Given the description of an element on the screen output the (x, y) to click on. 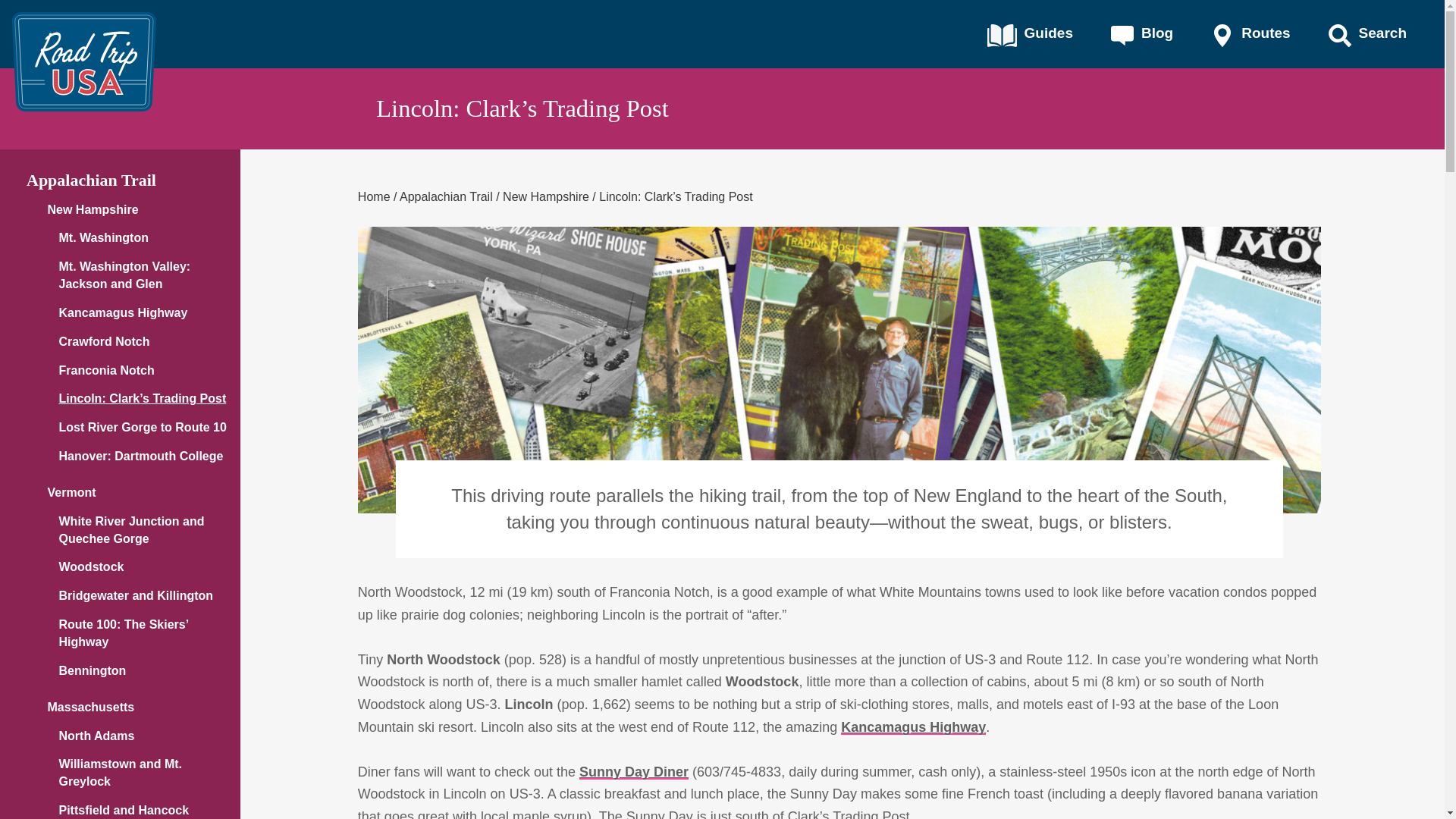
New Hampshire (545, 196)
Routes (1250, 35)
Blog (1142, 35)
Search (1367, 35)
Sunny Day Diner (633, 771)
Search (1367, 35)
Routes (1250, 35)
Guides (1029, 35)
Appalachian Trail (445, 196)
Home (374, 196)
